Given the description of an element on the screen output the (x, y) to click on. 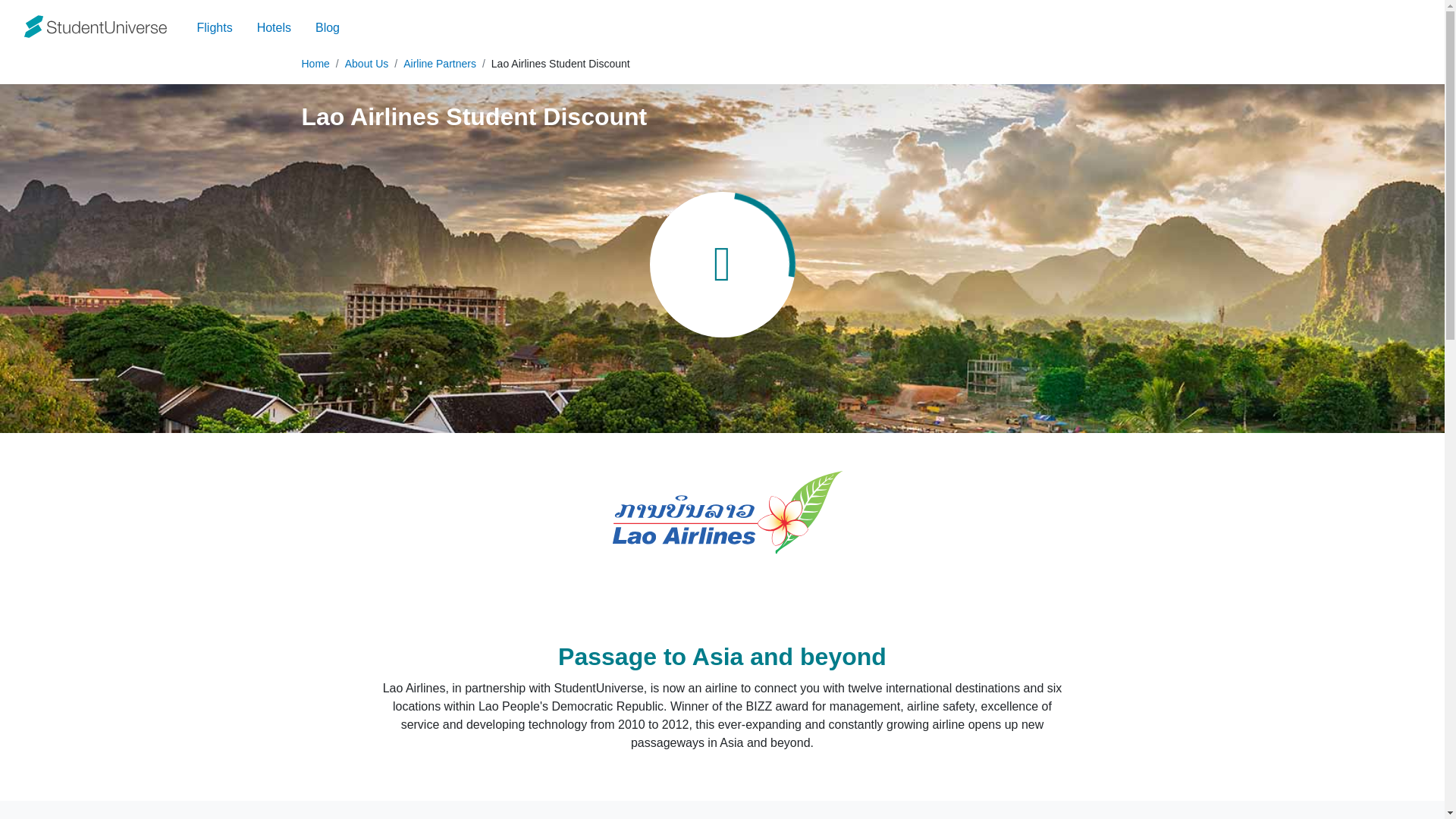
Hotels (273, 28)
Airline Partners (439, 63)
Home (315, 63)
Blog (327, 28)
About Us (366, 63)
Flights (214, 28)
Home (315, 63)
